Given the description of an element on the screen output the (x, y) to click on. 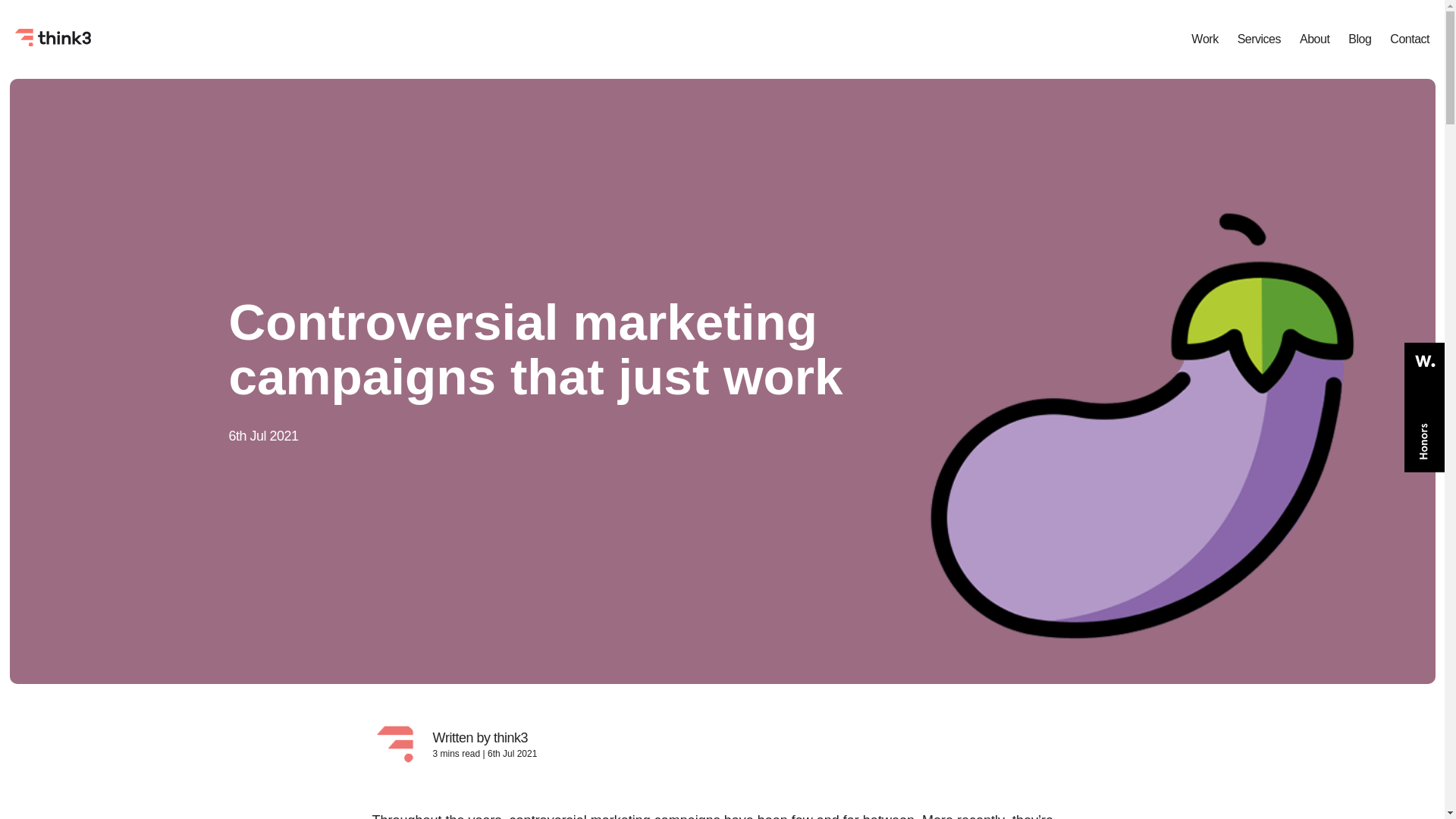
Work (1204, 38)
Blog (1359, 38)
Contact (1409, 38)
About (1314, 38)
Services (1259, 38)
